Given the description of an element on the screen output the (x, y) to click on. 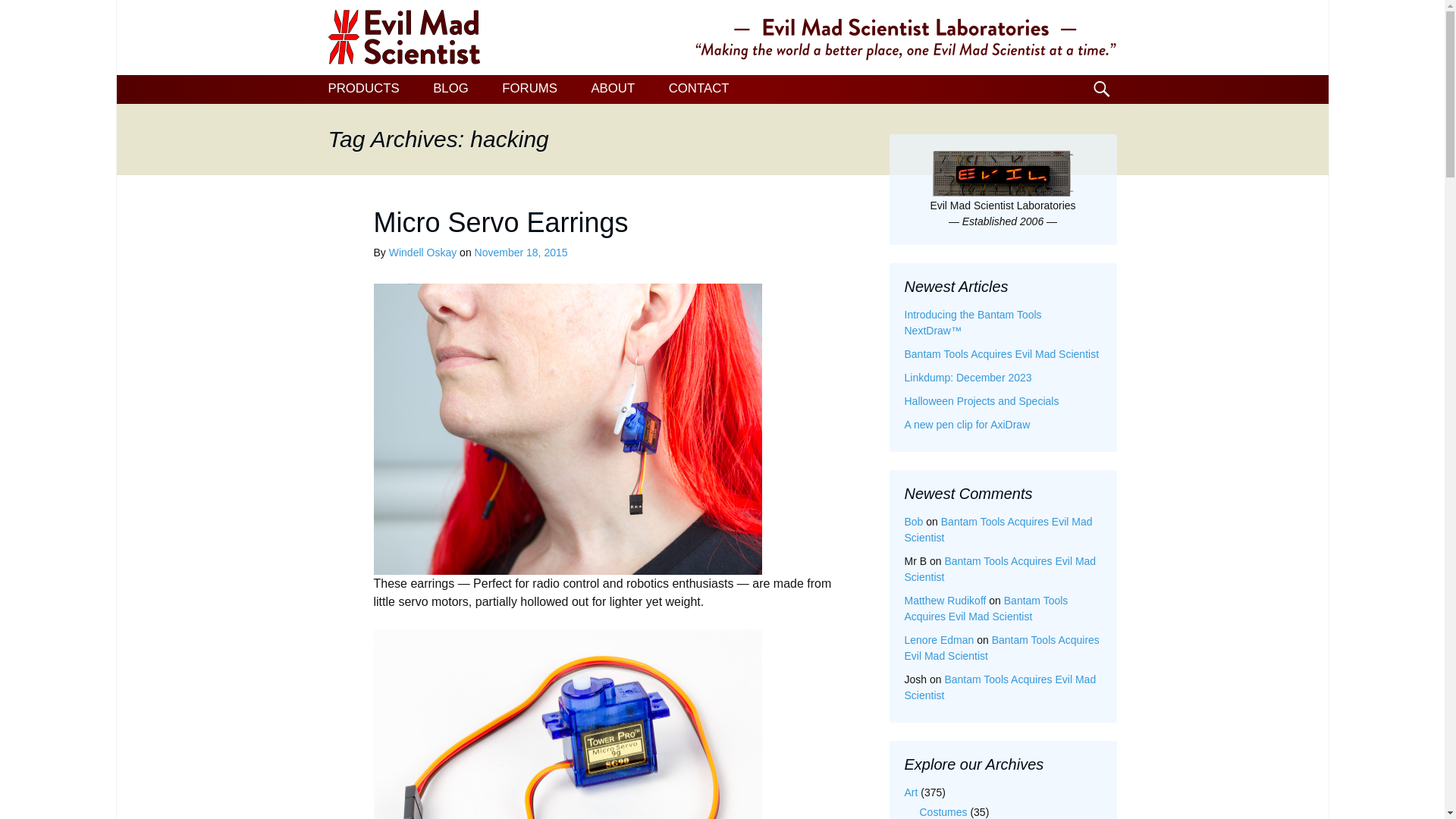
Windell Oskay (422, 252)
November 18, 2015 (520, 252)
Search (18, 15)
PRODUCTS (363, 89)
E-mail contact form (698, 89)
Permalink to Micro Servo Earrings (520, 252)
FORUMS (529, 89)
Micro Servo Earrings (499, 222)
